Given the description of an element on the screen output the (x, y) to click on. 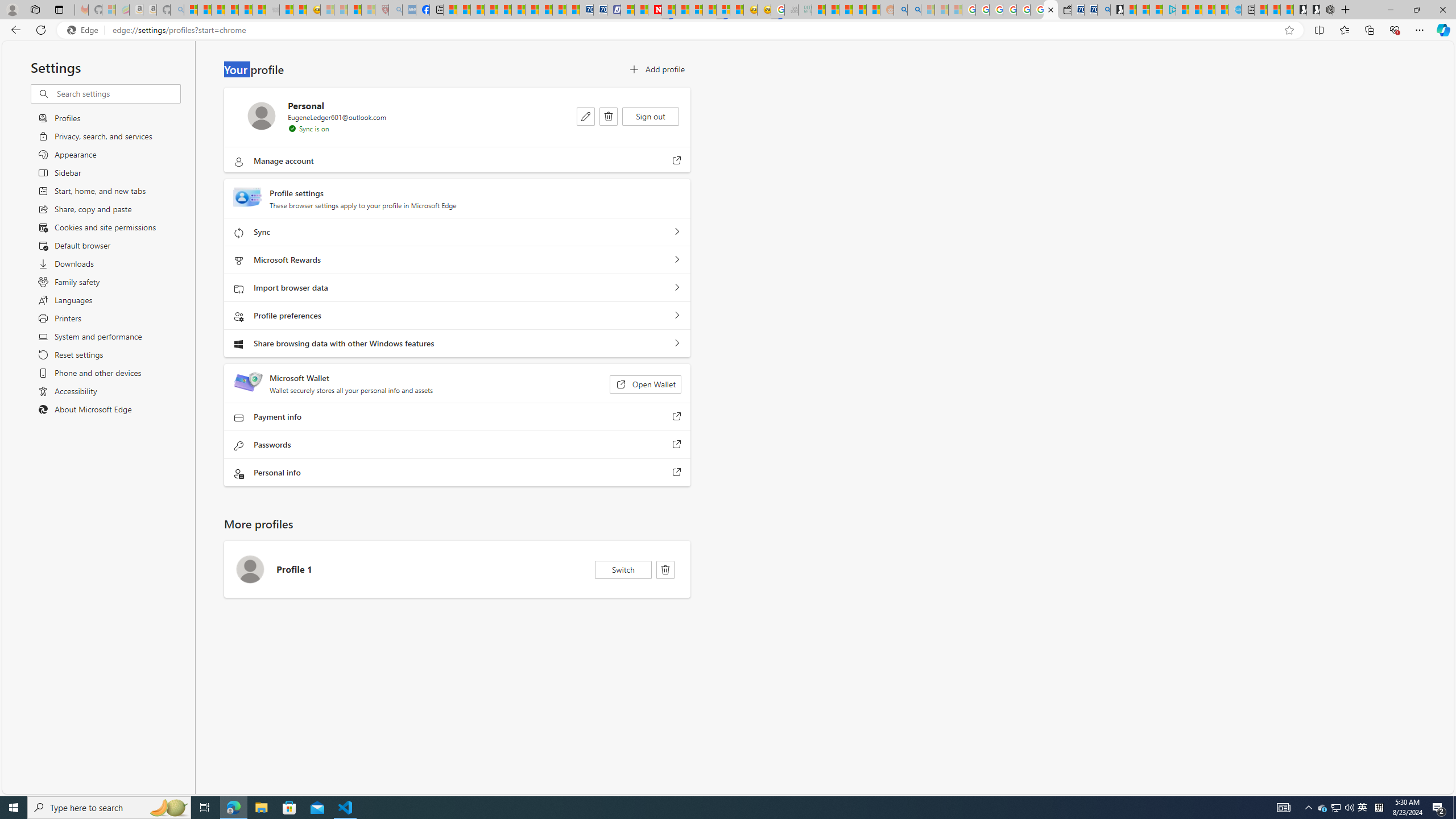
Robert H. Shmerling, MD - Harvard Health - Sleeping (381, 9)
14 Common Myths Debunked By Scientific Facts (682, 9)
Passwords (676, 444)
NCL Adult Asthma Inhaler Choice Guideline - Sleeping (408, 9)
Climate Damage Becomes Too Severe To Reverse (490, 9)
Utah sues federal government - Search (914, 9)
